Given the description of an element on the screen output the (x, y) to click on. 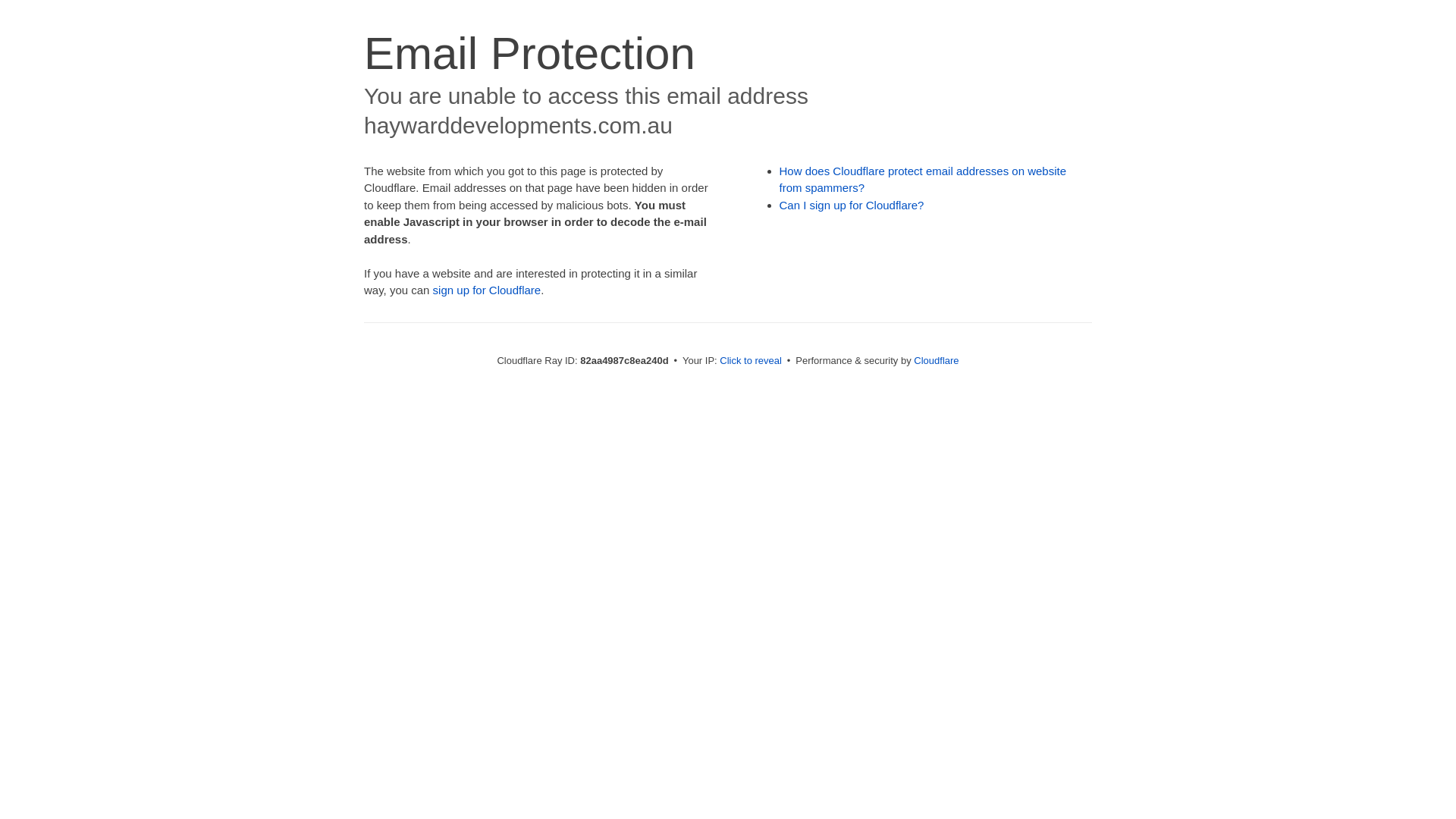
Can I sign up for Cloudflare? Element type: text (851, 204)
Click to reveal Element type: text (750, 360)
sign up for Cloudflare Element type: text (487, 289)
Cloudflare Element type: text (935, 360)
